Given the description of an element on the screen output the (x, y) to click on. 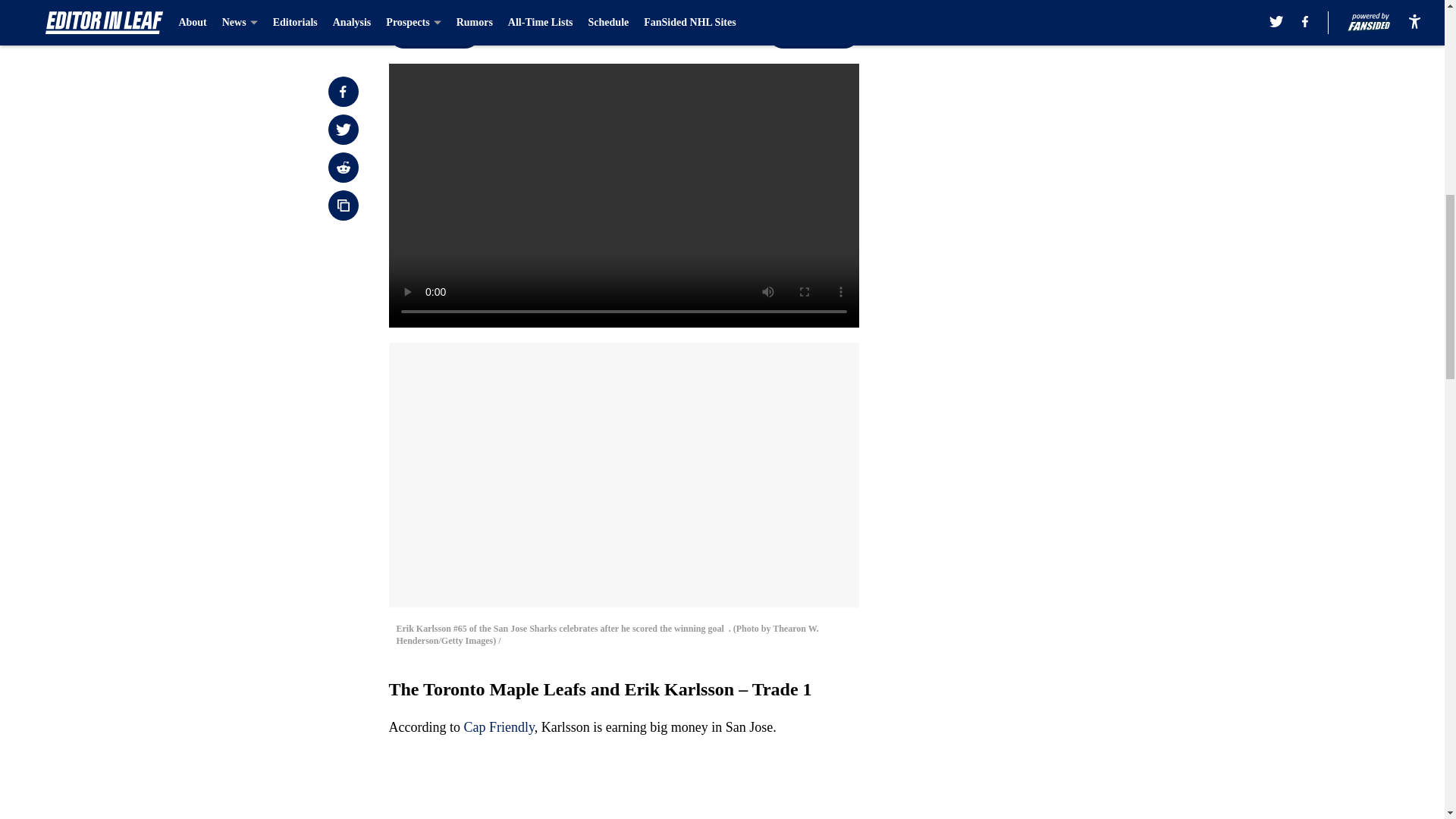
Next (813, 33)
Prev (433, 33)
3rd party ad content (1047, 113)
3rd party ad content (1047, 332)
Cap Friendly (498, 726)
